Given the description of an element on the screen output the (x, y) to click on. 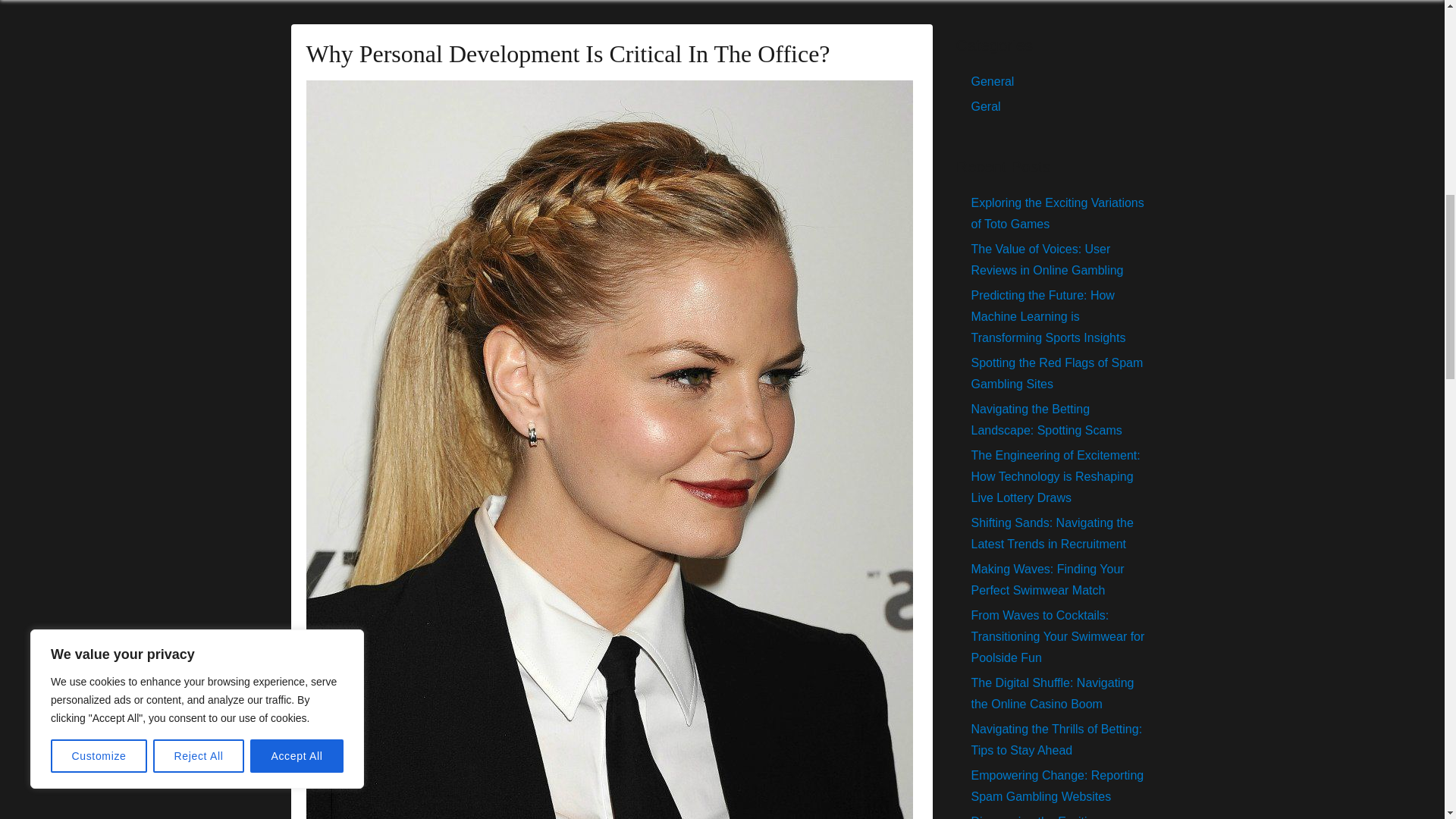
General (992, 81)
The Value of Voices: User Reviews in Online Gambling (1046, 259)
Geral (985, 106)
Exploring the Exciting Variations of Toto Games (1056, 213)
